Given the description of an element on the screen output the (x, y) to click on. 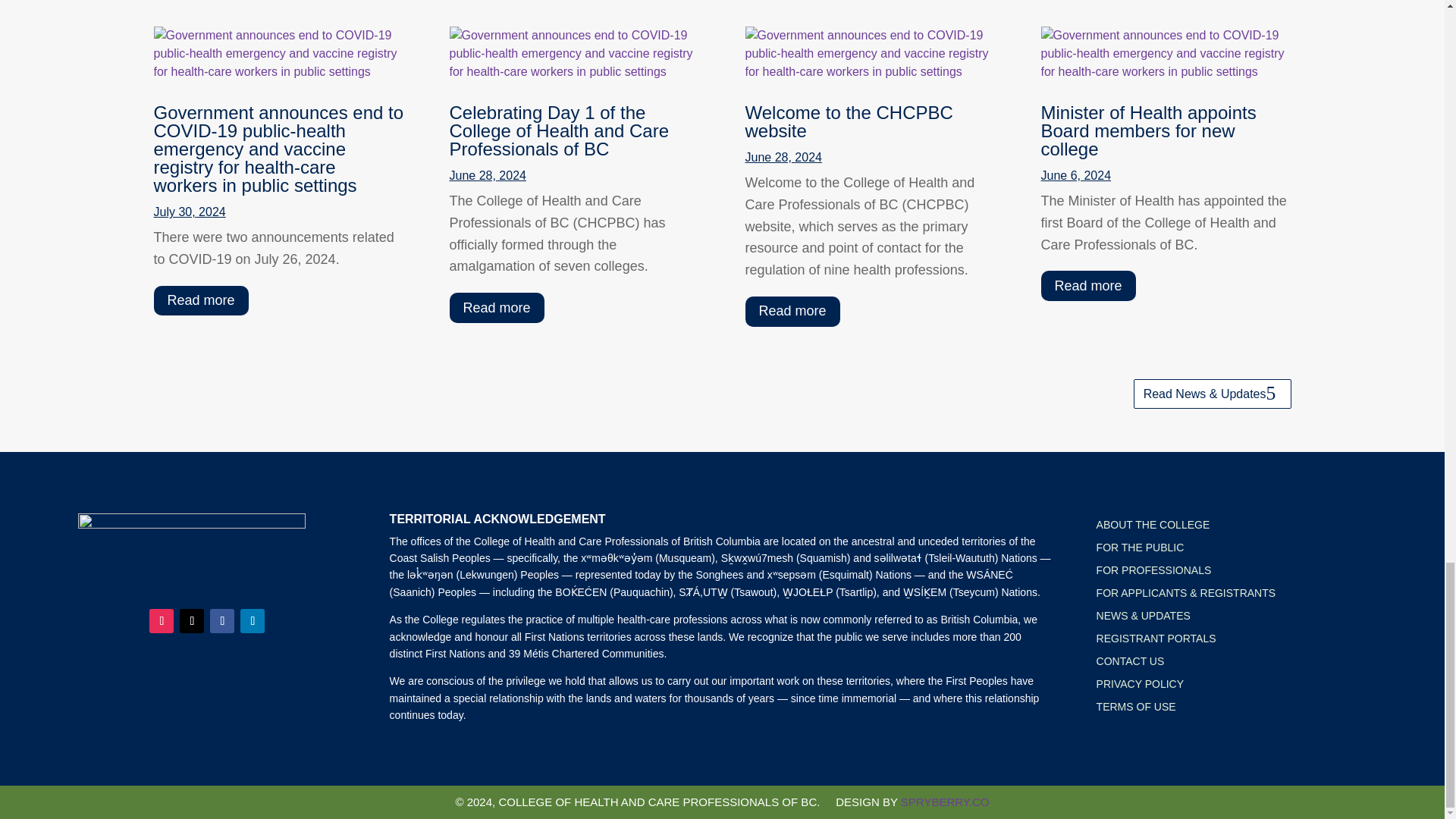
24-04-03 CHCP of BC logo horizontal WHITE (191, 550)
Follow on LinkedIn (252, 621)
spryberry creative strategy inc. (945, 801)
Follow on Instagram (161, 621)
Follow on X (191, 621)
Follow on Facebook (221, 621)
